Given the description of an element on the screen output the (x, y) to click on. 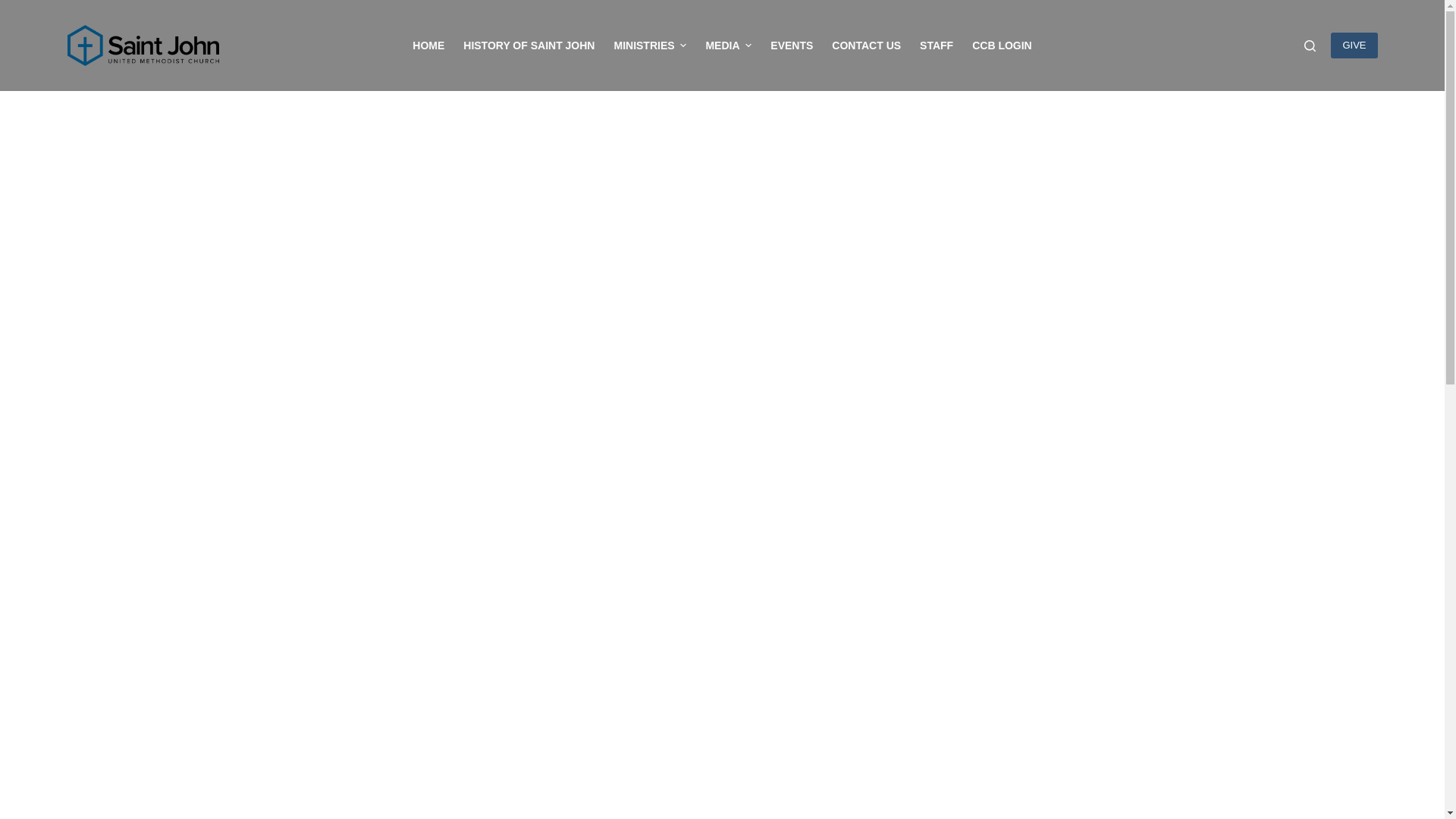
Skip to content (15, 7)
CONTACT US (866, 45)
HISTORY OF SAINT JOHN (529, 45)
MINISTRIES (649, 45)
